Given the description of an element on the screen output the (x, y) to click on. 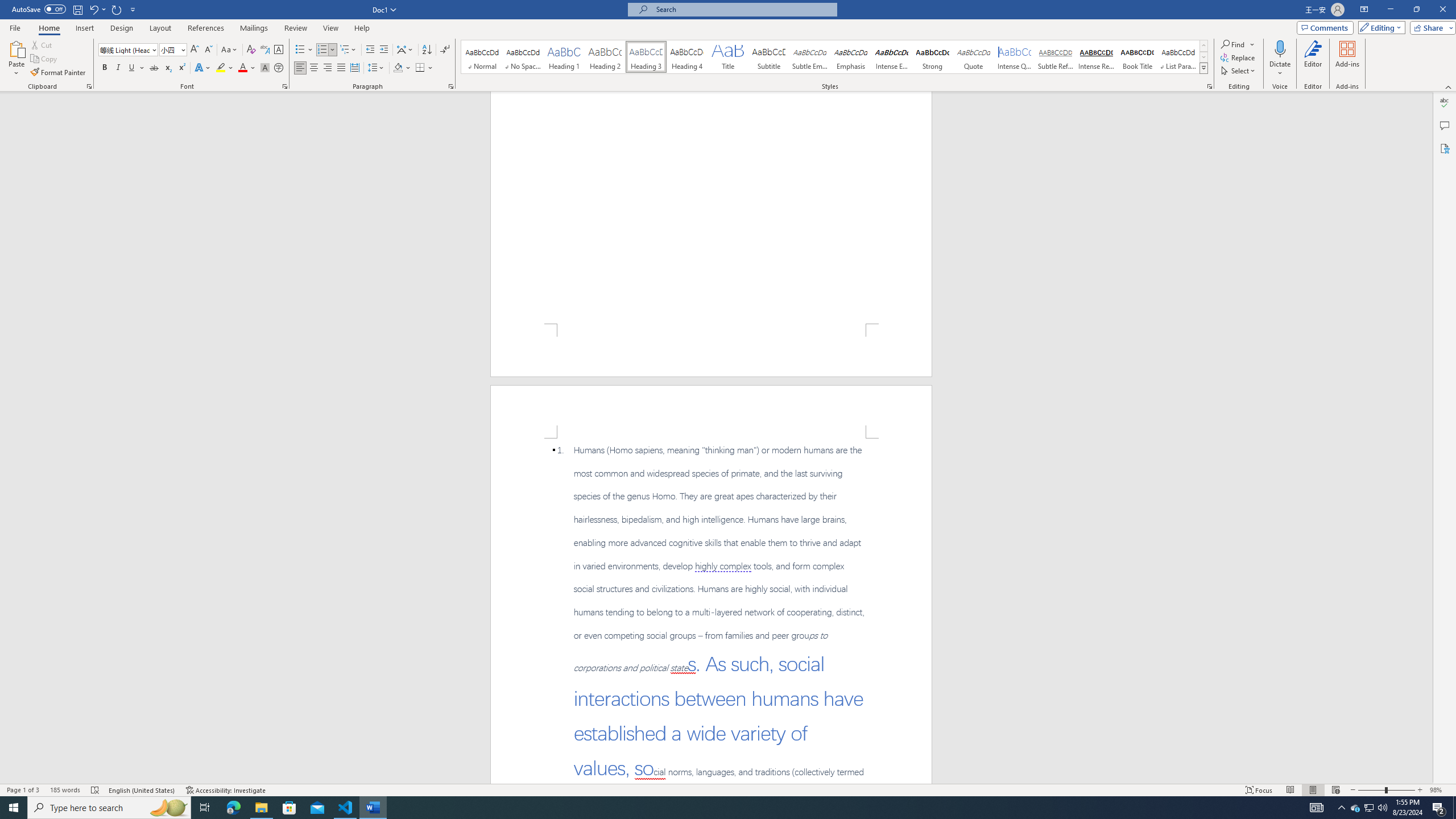
Quote (973, 56)
Emphasis (849, 56)
Page 2 content (710, 610)
Accessibility (1444, 147)
Repeat Number Default (117, 9)
